Given the description of an element on the screen output the (x, y) to click on. 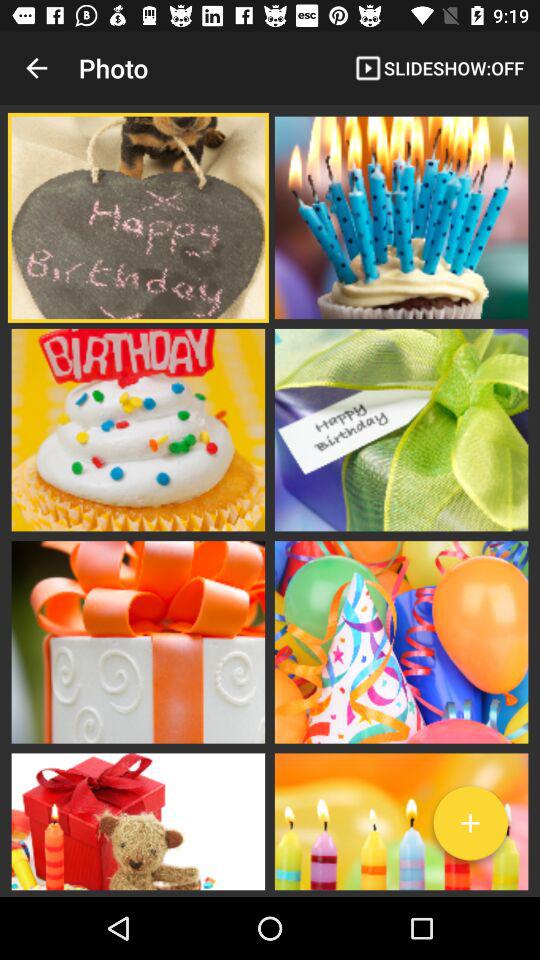
launch icon on the right (401, 430)
